Given the description of an element on the screen output the (x, y) to click on. 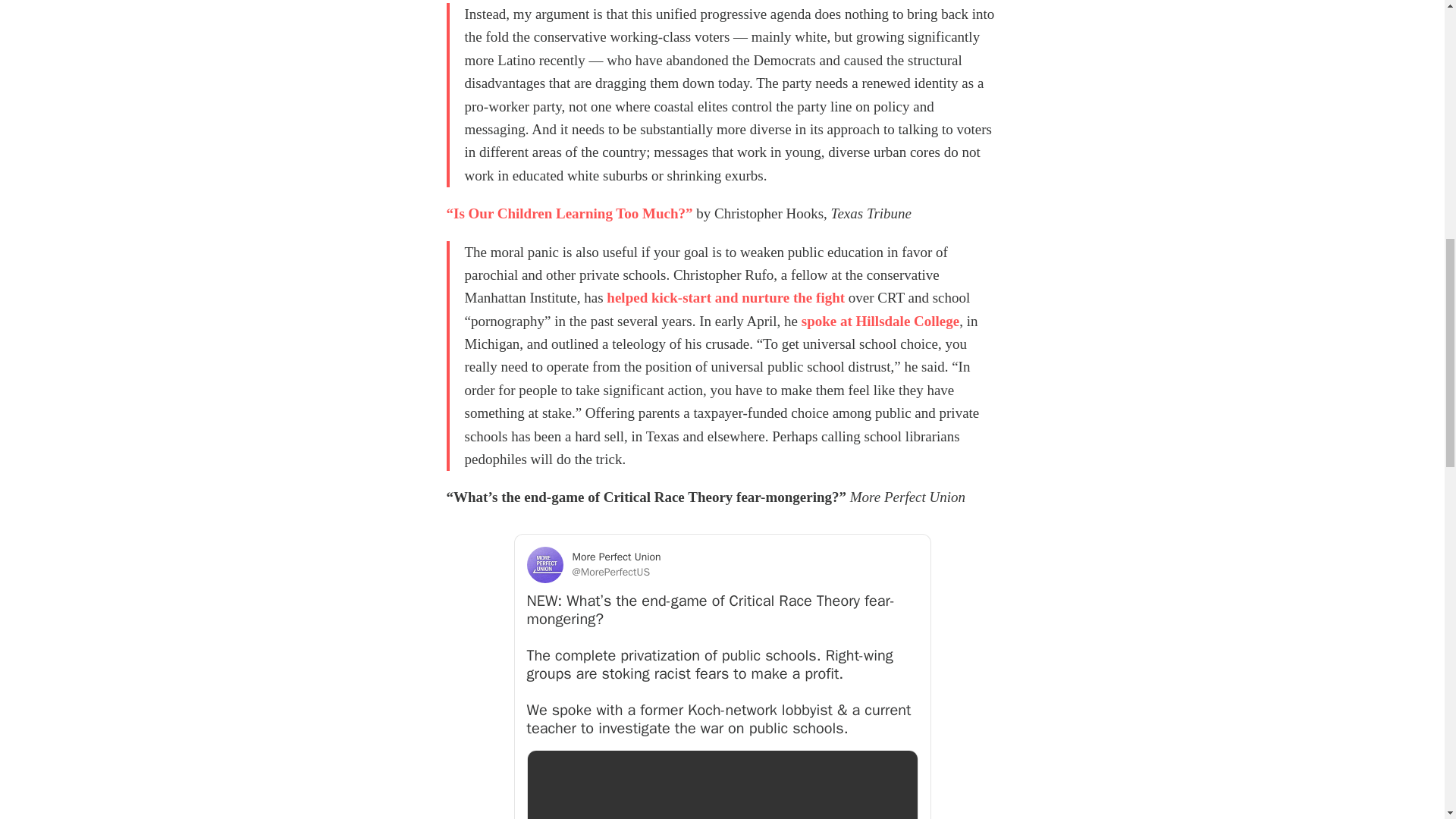
spoke at Hillsdale College (880, 320)
helped kick-start and nurture the fight (725, 297)
